Given the description of an element on the screen output the (x, y) to click on. 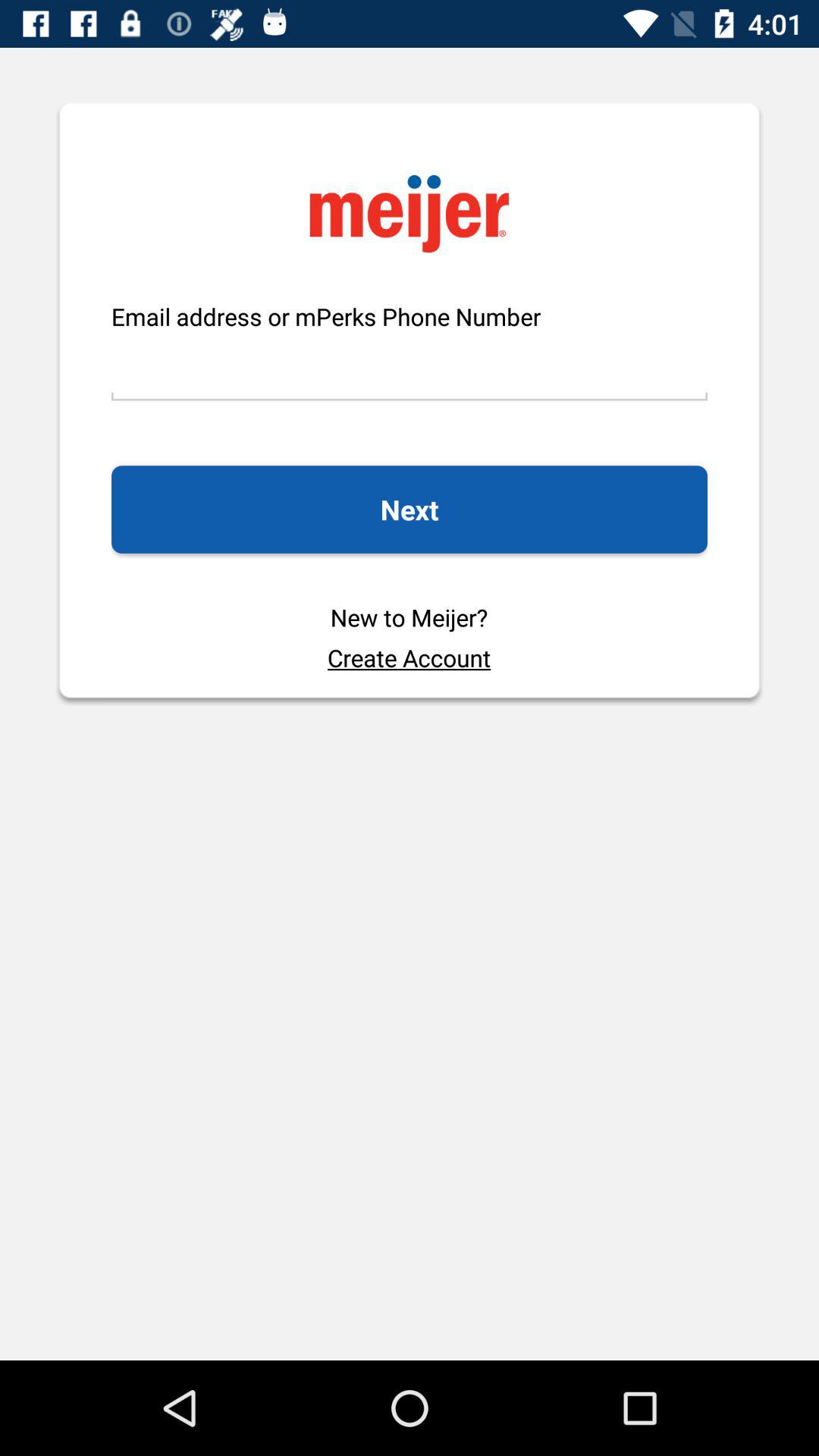
turn on the icon above the new to meijer? item (409, 509)
